Given the description of an element on the screen output the (x, y) to click on. 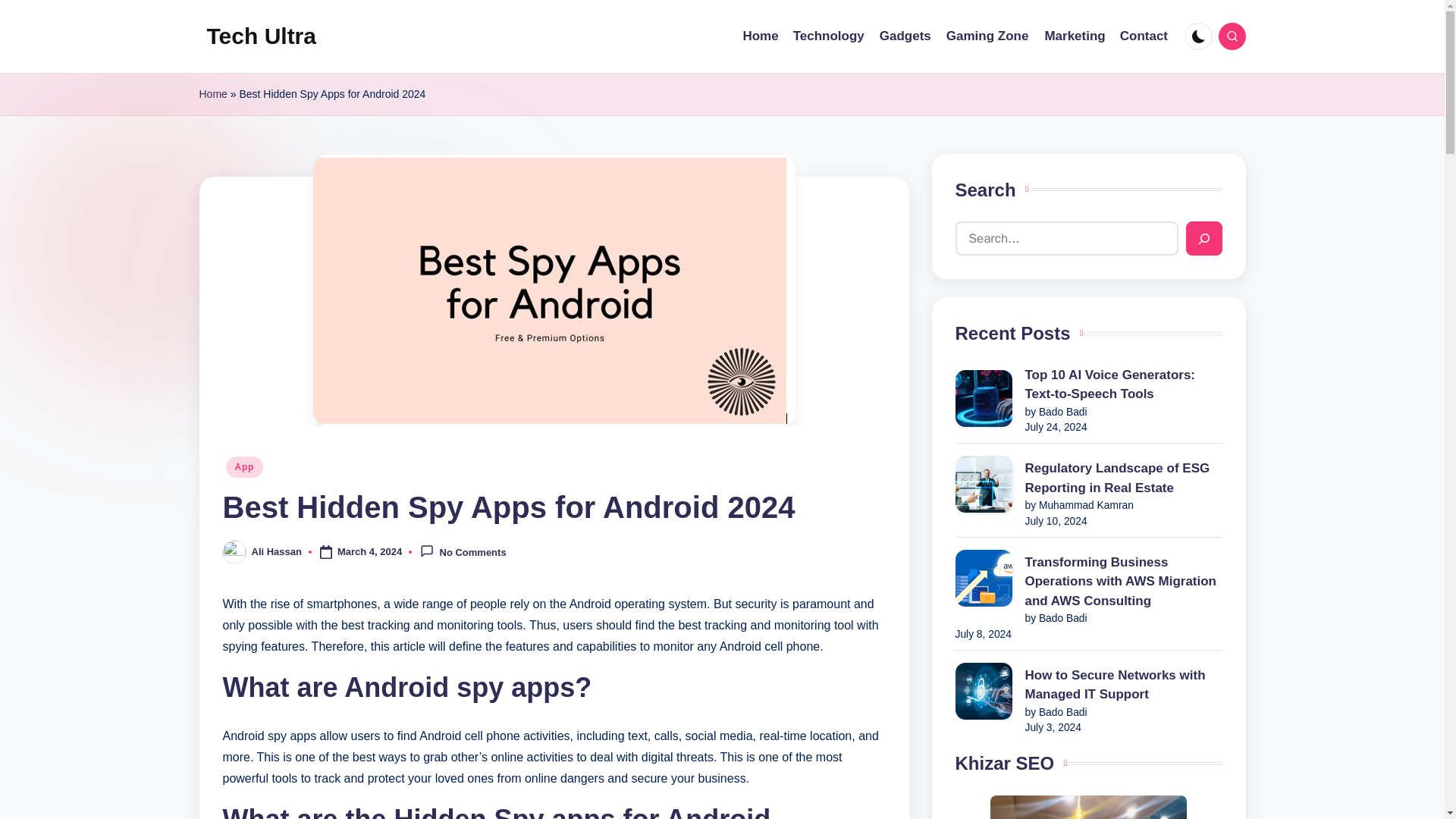
Technology (828, 36)
Regulatory Landscape of ESG Reporting in Real Estate (1089, 477)
Home (759, 36)
No Comments (462, 551)
Tech Ultra (260, 36)
Ali Hassan (276, 551)
Gaming Zone (987, 36)
View all posts by Ali Hassan (276, 551)
Top 10 AI Voice Generators: Text-to-Speech Tools (1089, 384)
Gadgets (905, 36)
Marketing (1074, 36)
How to Secure Networks with Managed IT Support (1089, 684)
Contact (1143, 36)
Home (212, 94)
App (244, 466)
